Given the description of an element on the screen output the (x, y) to click on. 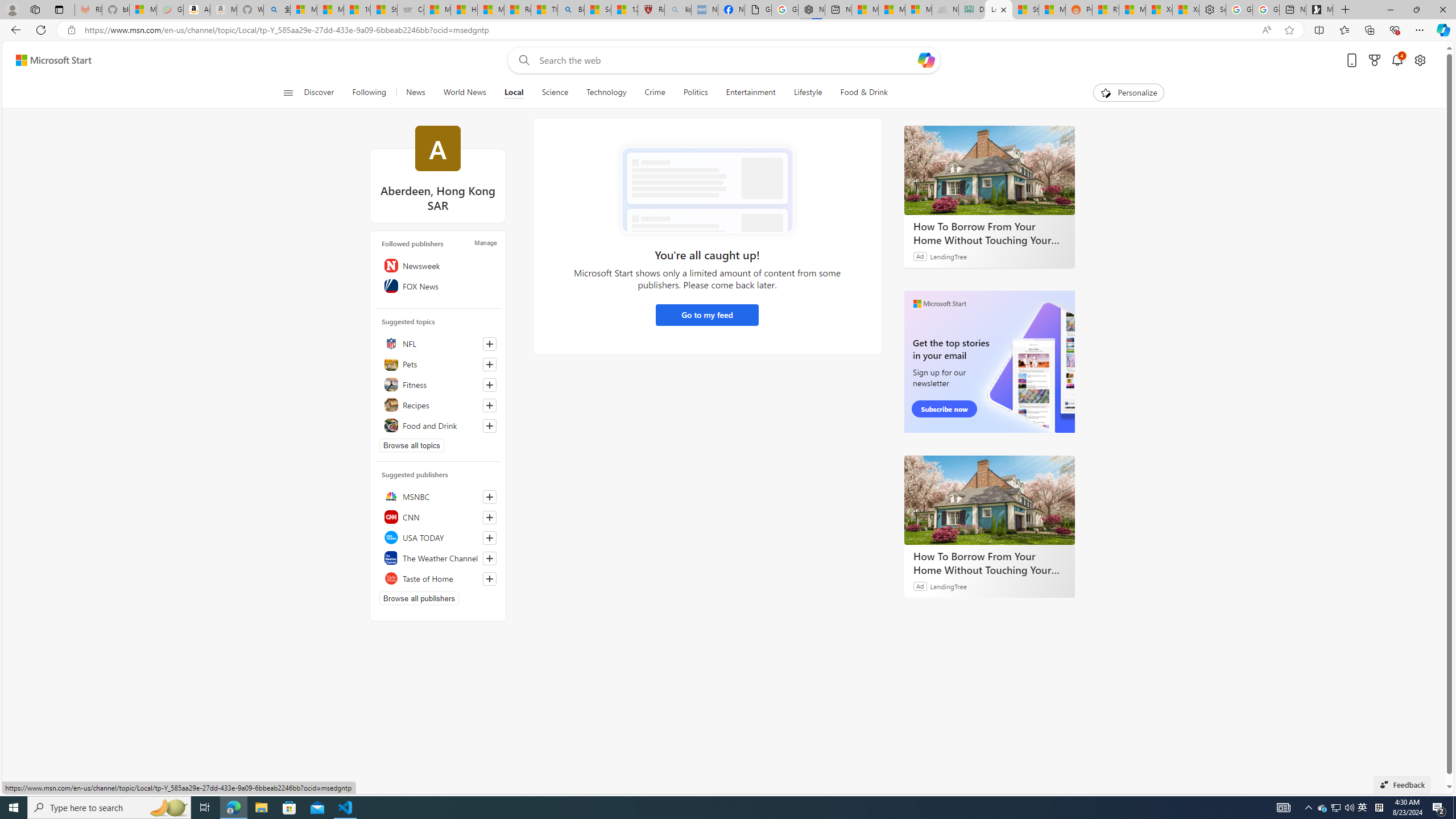
Local - MSN (997, 9)
Taste of Home (437, 578)
The Weather Channel (437, 557)
Fitness (437, 384)
NFL (437, 343)
MSNBC (437, 496)
Recipes (437, 404)
